Given the description of an element on the screen output the (x, y) to click on. 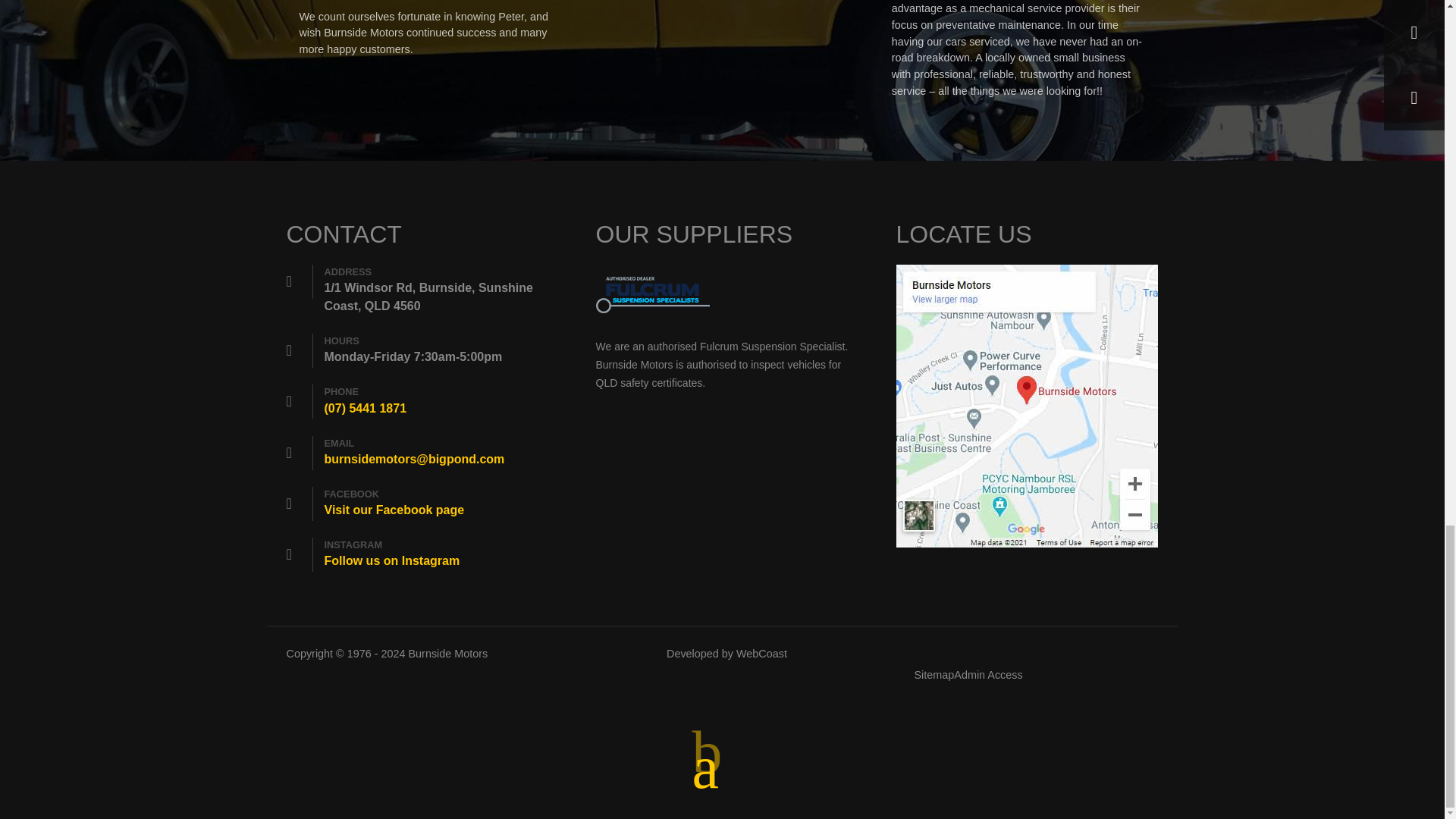
Admin Access (987, 674)
Visit our Facebook page (394, 509)
Burnside Motors (448, 653)
Follow us on Instagram (392, 560)
WebCoast (761, 653)
Sitemap (934, 674)
Burnside Motors (448, 653)
WebCoast (761, 653)
